Given the description of an element on the screen output the (x, y) to click on. 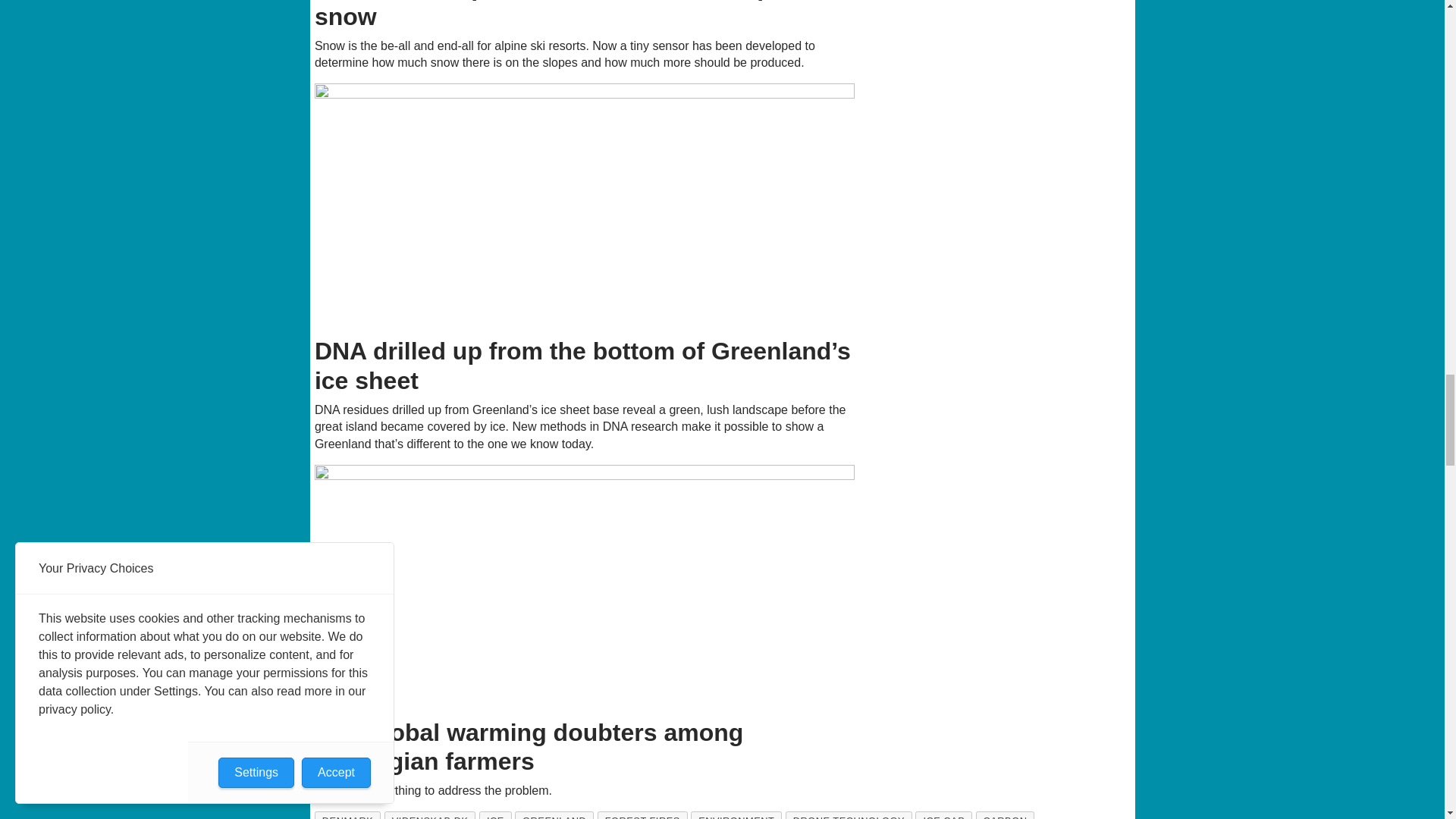
DRONE TECHNOLOGY (849, 815)
ENVIRONMENT (735, 815)
ICE (495, 815)
Few global warming doubters among Norwegian farmers (585, 586)
VIDENSKAB.DK (430, 815)
ICE CAP (943, 815)
GREENLAND (554, 815)
DENMARK (347, 815)
FOREST FIRES (641, 815)
